Given the description of an element on the screen output the (x, y) to click on. 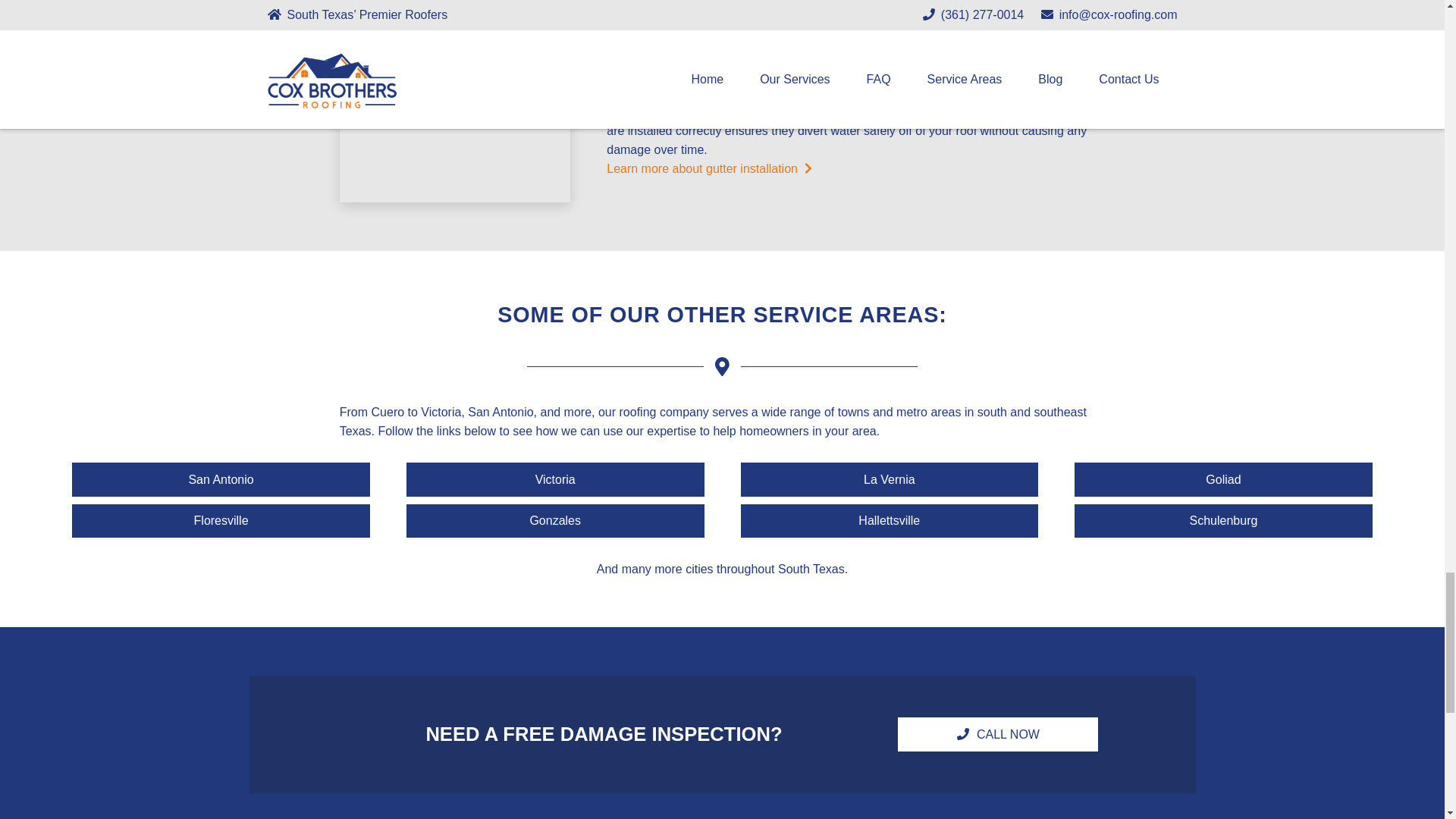
Schulenburg Roofers (1223, 521)
Hallettsville Roofers (888, 521)
Gonzales Roofers (555, 521)
Floresville Roofers (220, 521)
San Antonio Roofers (220, 479)
La Vernia Roofers (888, 479)
